Given the description of an element on the screen output the (x, y) to click on. 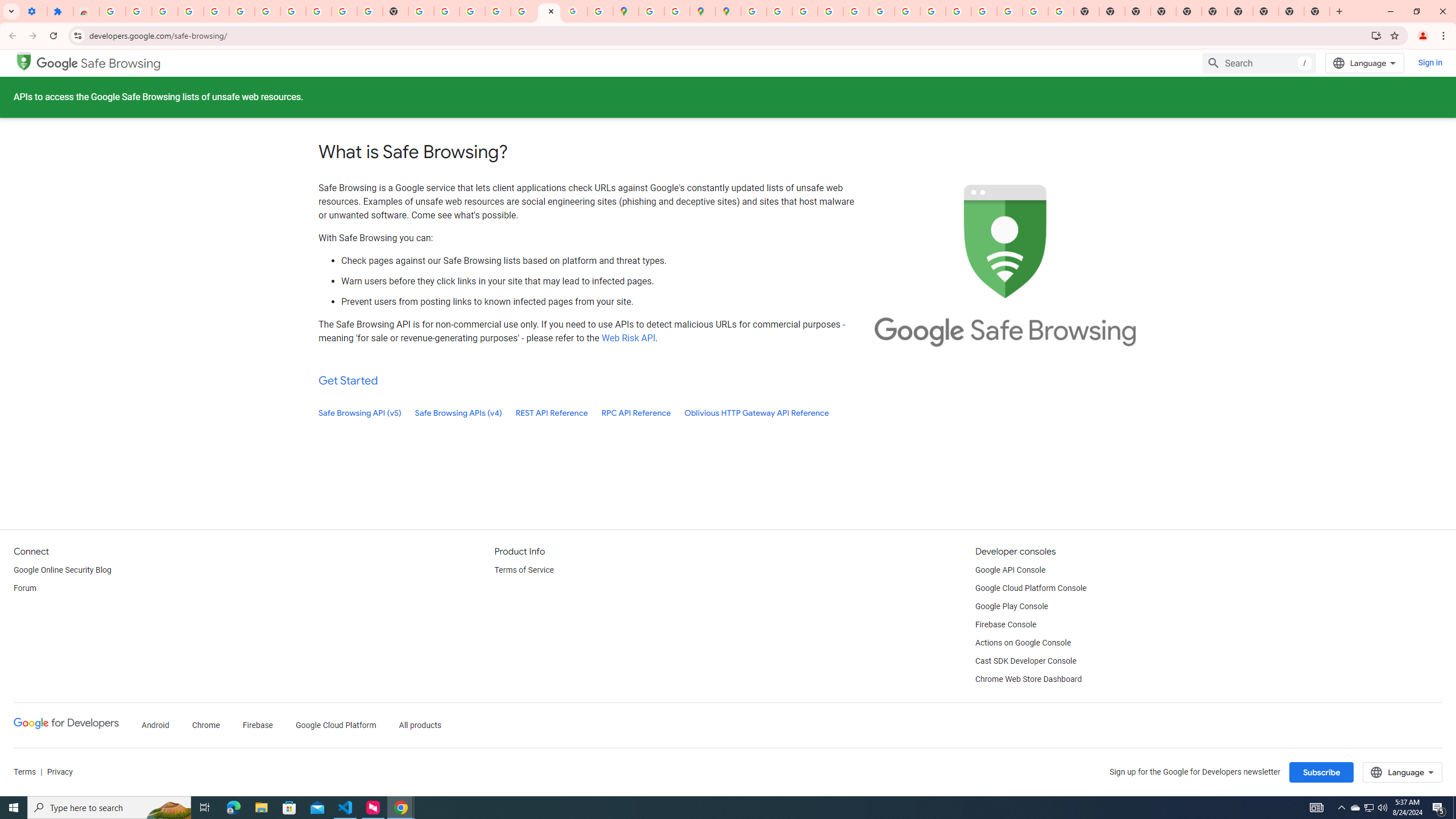
Cast SDK Developer Console (1025, 661)
Google Safe Browsing (98, 63)
Delete photos & videos - Computer - Google Photos Help (190, 11)
Chrome Web Store Dashboard (1028, 679)
Forum (24, 588)
Reviews: Helix Fruit Jump Arcade Game (86, 11)
RPC API Reference (635, 412)
Search (1258, 63)
Sign in - Google Accounts (266, 11)
